Given the description of an element on the screen output the (x, y) to click on. 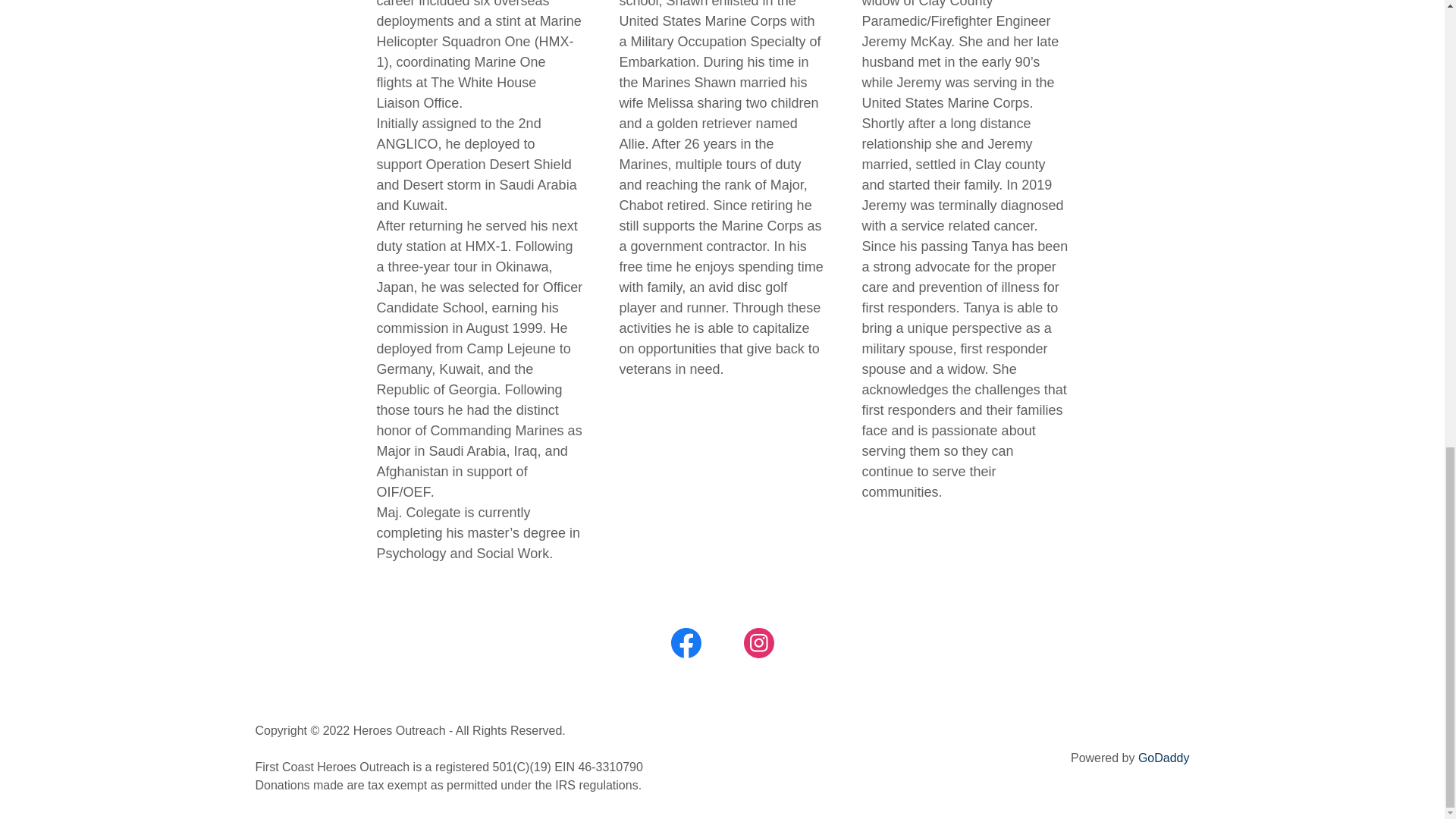
Accept (1274, 153)
GoDaddy (1163, 757)
